Given the description of an element on the screen output the (x, y) to click on. 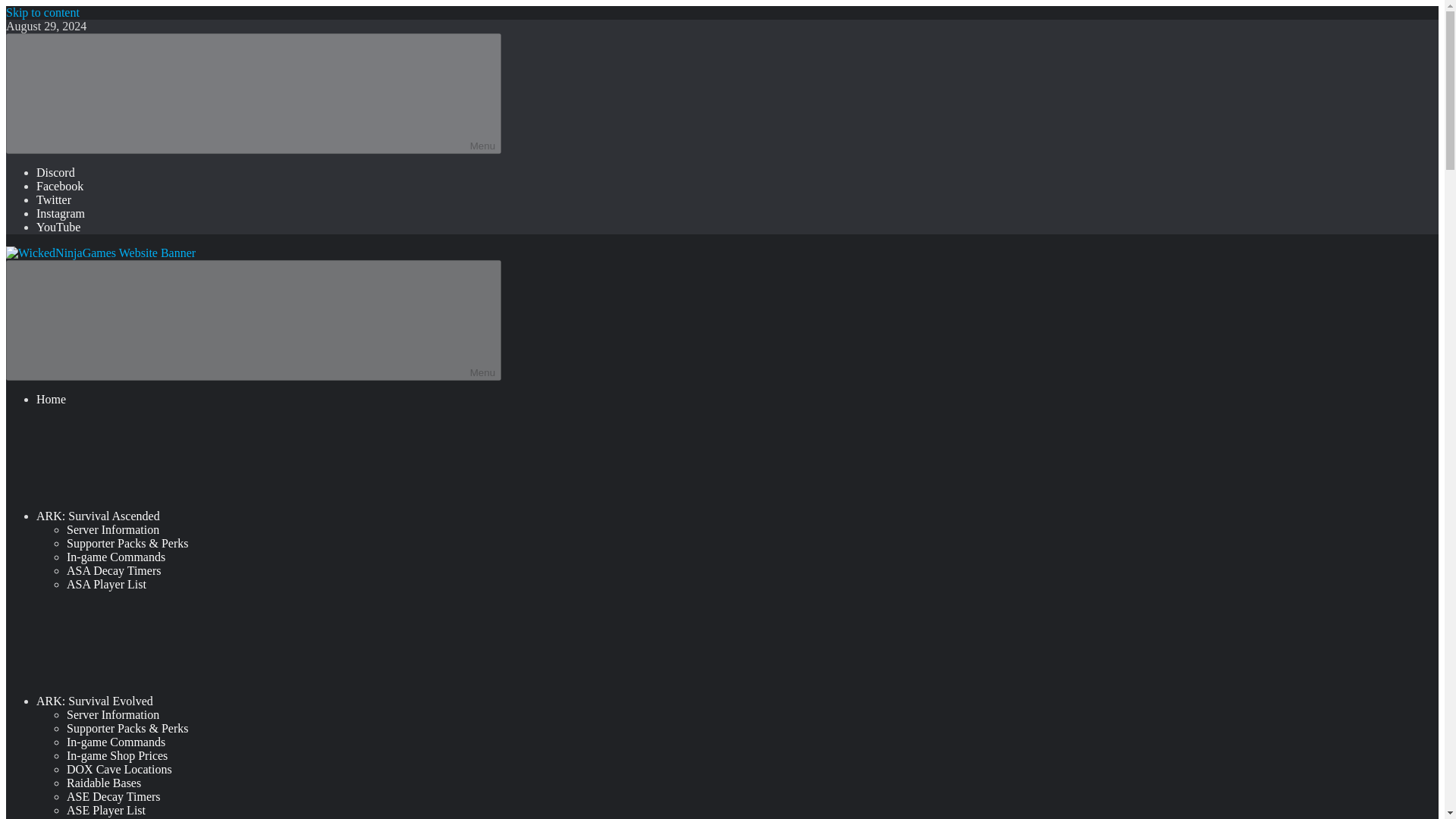
Discord (55, 172)
ARK: Survival Evolved (208, 700)
Twitter (53, 199)
Facebook (59, 185)
Vote Rewards (99, 818)
In-game Commands (115, 556)
Home (50, 399)
YouTube (58, 226)
Instagram (60, 213)
Menu (252, 93)
